Given the description of an element on the screen output the (x, y) to click on. 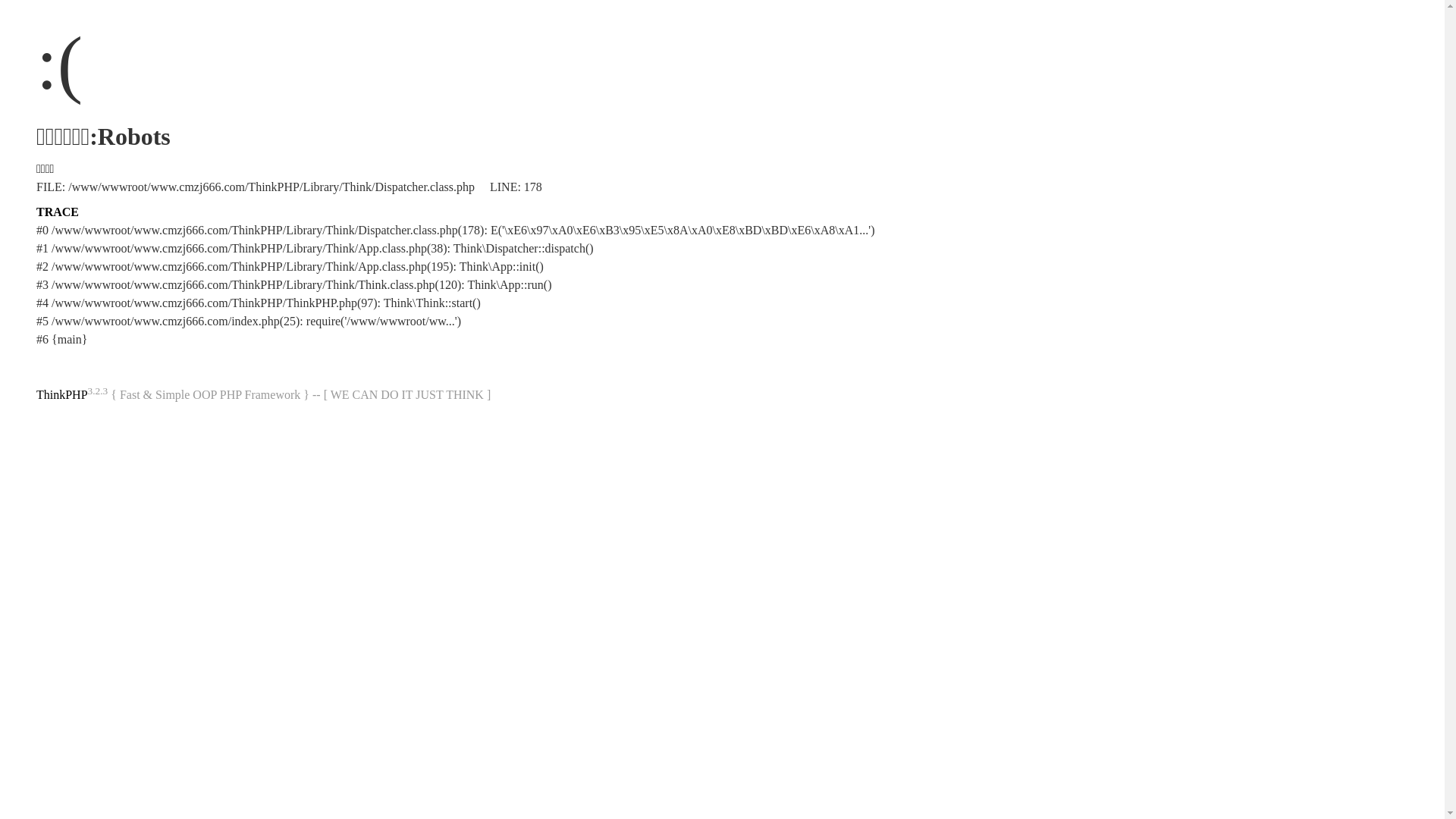
ThinkPHP Element type: text (61, 394)
